Given the description of an element on the screen output the (x, y) to click on. 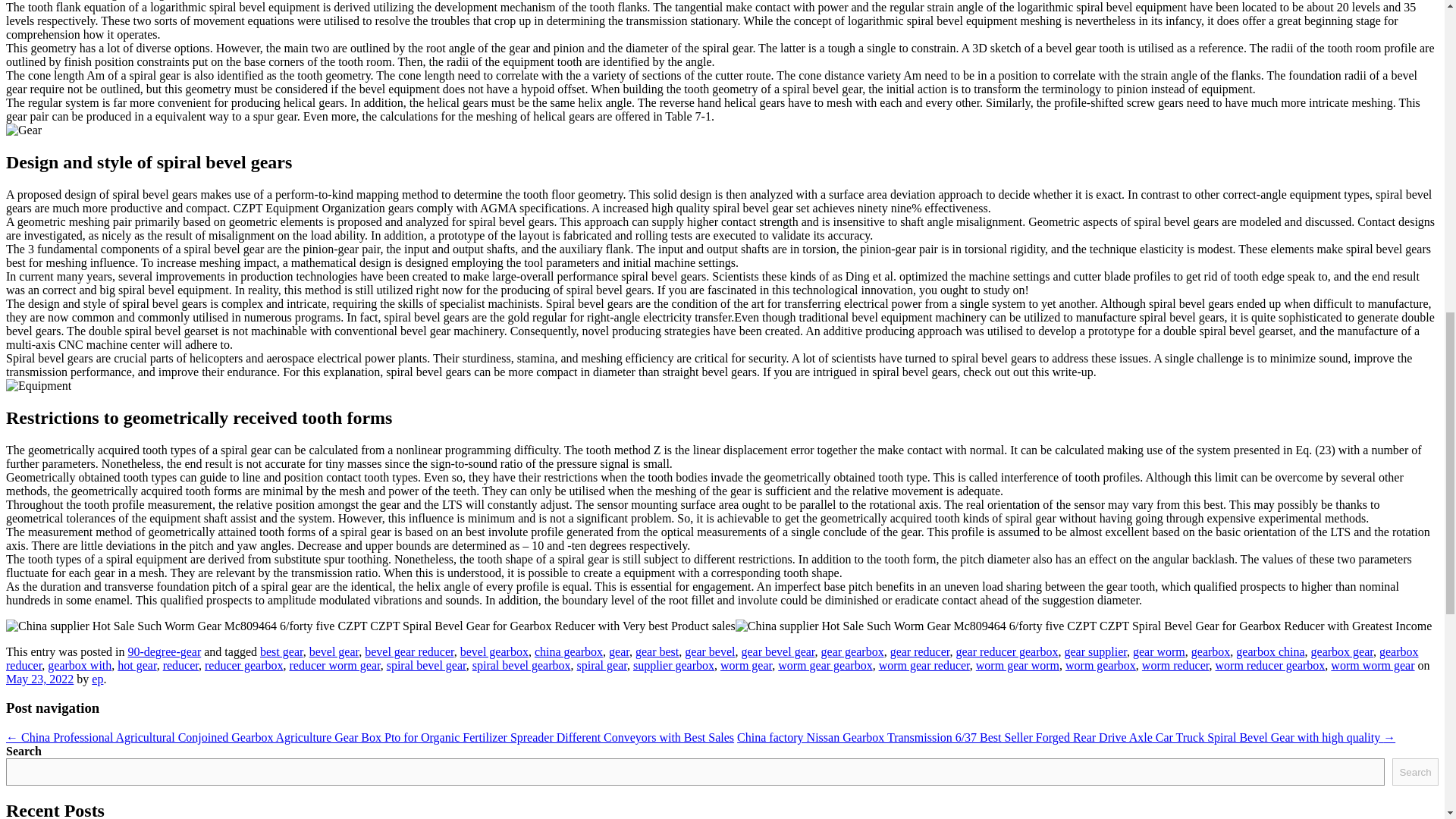
gear best (656, 651)
hot gear (136, 665)
bevel gear reducer (409, 651)
gearbox gear (1342, 651)
worm gear gearbox (824, 665)
worm gear reducer (924, 665)
worm gearbox (1100, 665)
90-degree-gear (164, 651)
gearbox china (1270, 651)
gearbox (1210, 651)
